Given the description of an element on the screen output the (x, y) to click on. 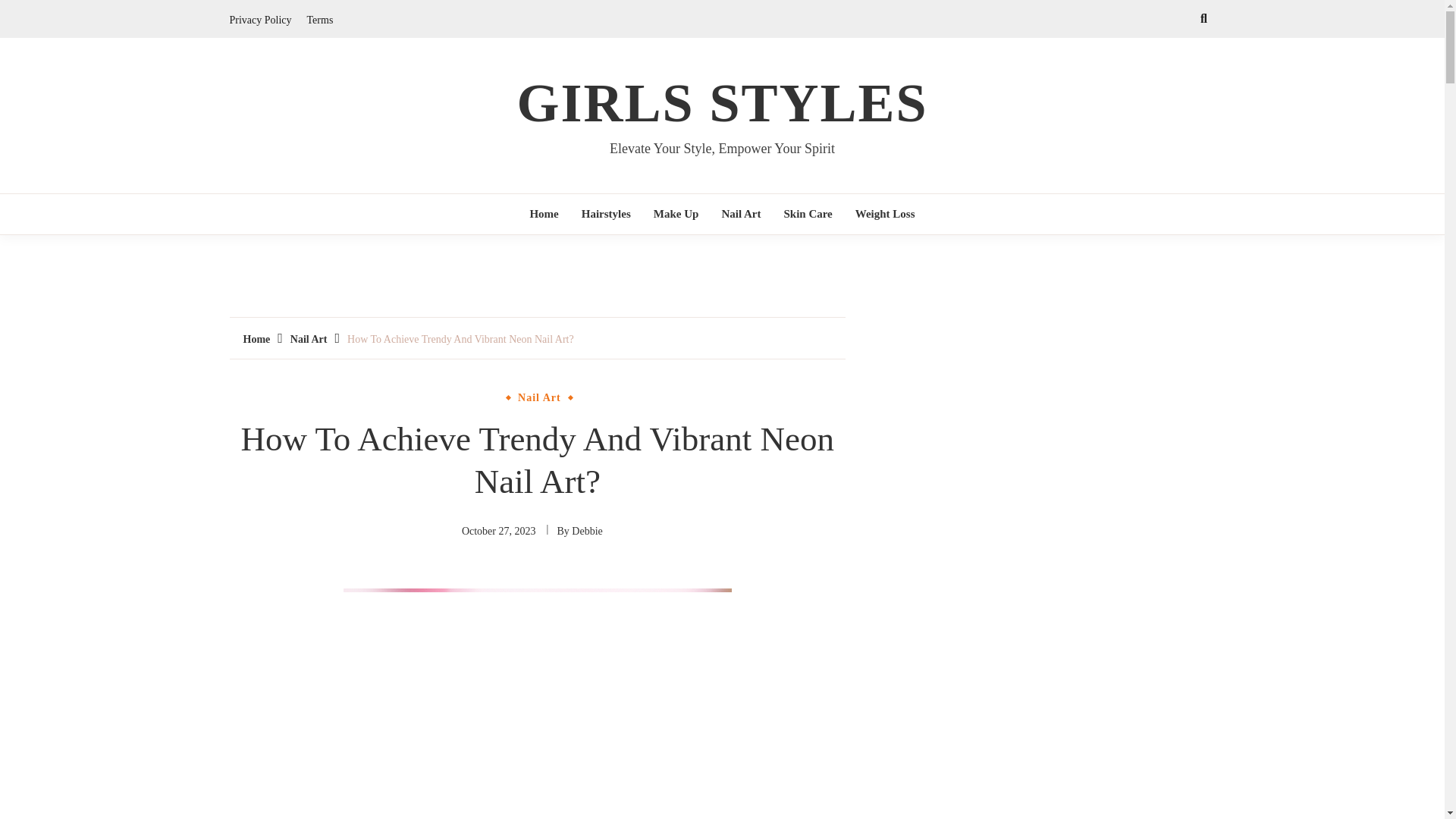
Weight Loss (884, 214)
Nail Art (538, 398)
Skin Care (806, 214)
Home (543, 214)
Nail Art (740, 214)
How To Achieve Trendy And Vibrant Neon Nail Art? (460, 338)
Terms (320, 19)
Hairstyles (606, 214)
Home (256, 338)
GIRLS STYLES (721, 102)
